Given the description of an element on the screen output the (x, y) to click on. 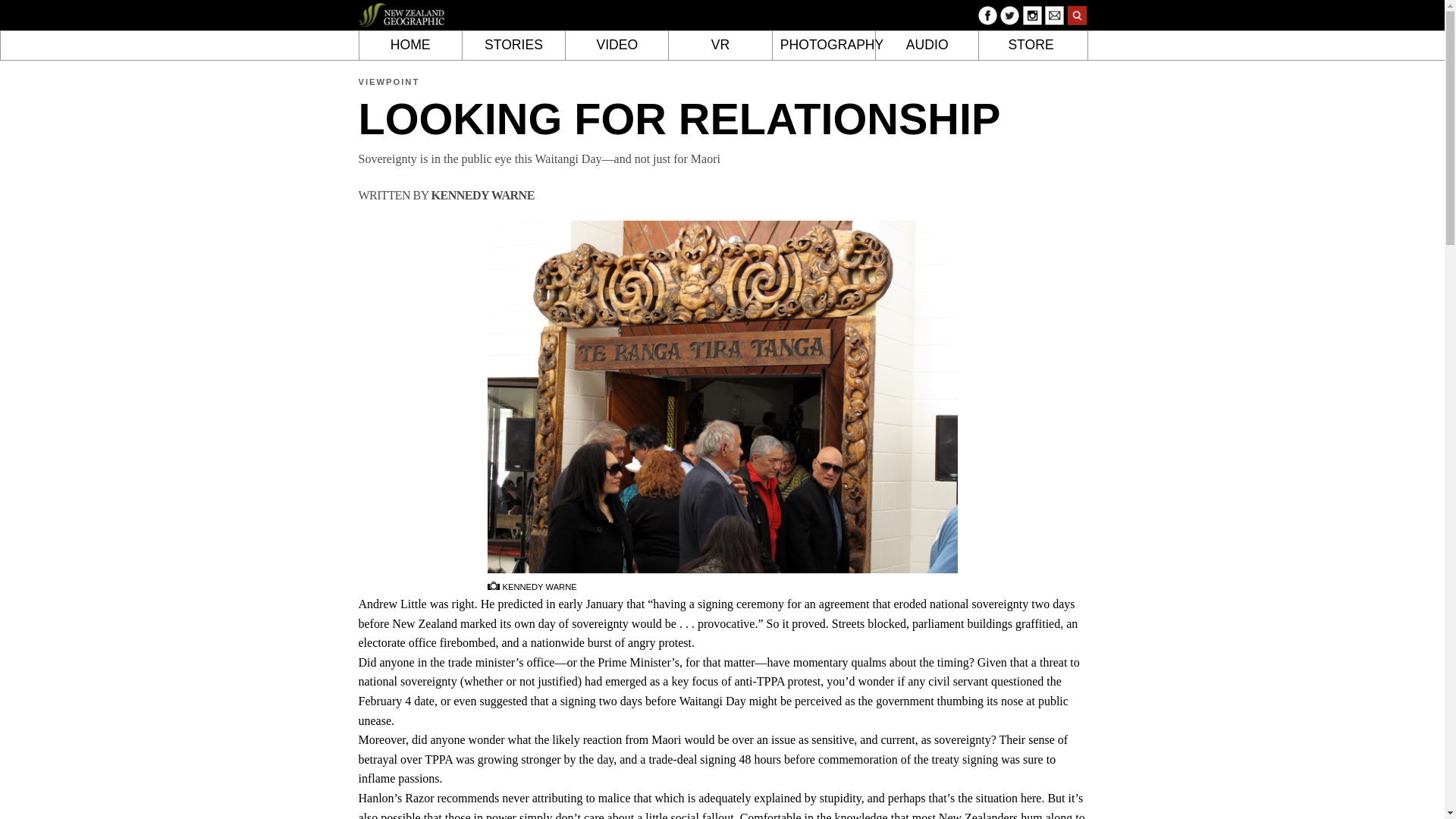
AUDIO (927, 45)
STORIES (513, 45)
VIDEO (617, 45)
VIEWPOINT (388, 81)
VR (719, 45)
HOME (410, 45)
KENNEDY WARNE (482, 195)
Posts by Kennedy Warne (482, 195)
PHOTOGRAPHY (823, 45)
STORE (1030, 45)
